Given the description of an element on the screen output the (x, y) to click on. 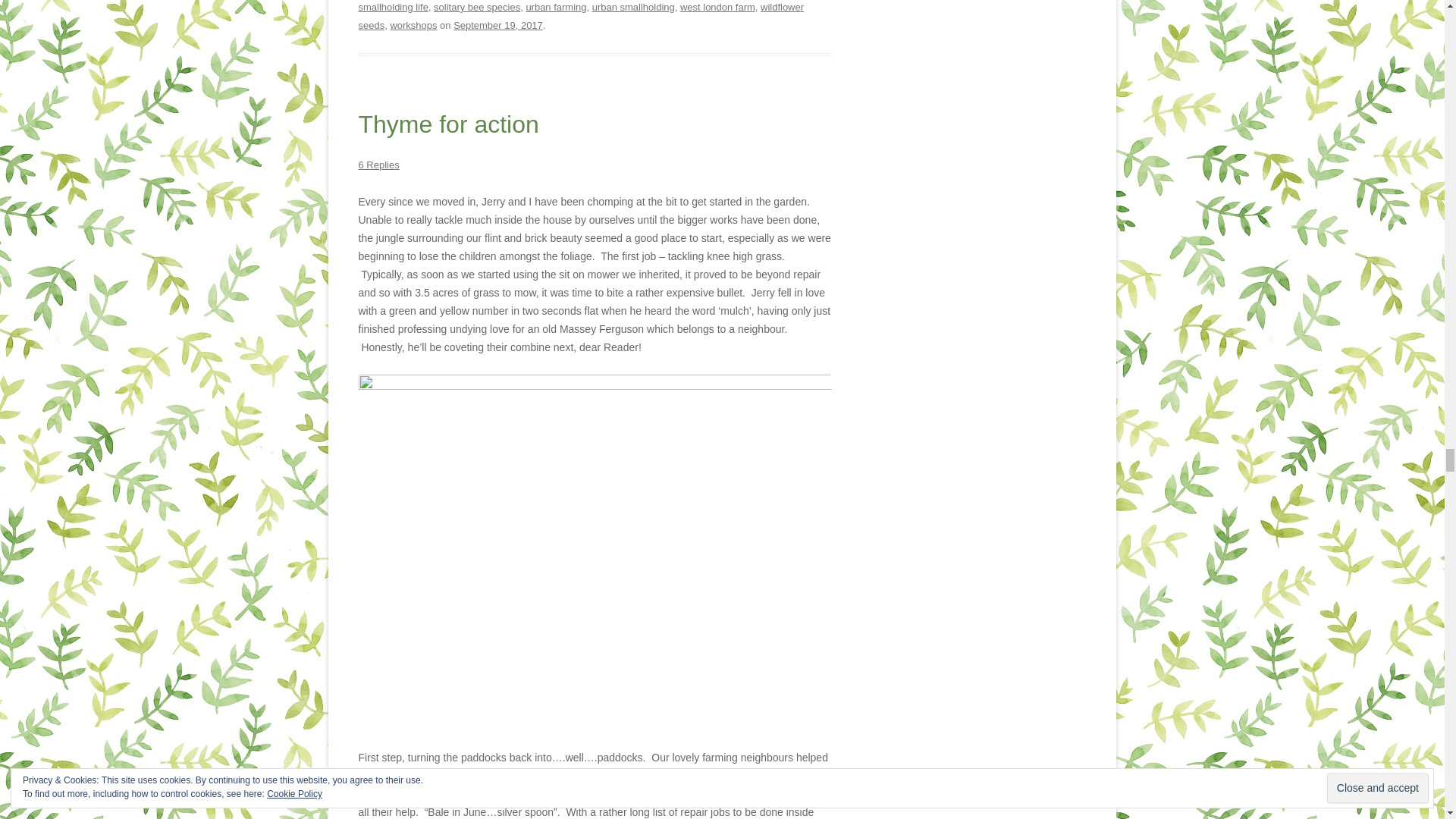
9:36 pm (497, 25)
